Given the description of an element on the screen output the (x, y) to click on. 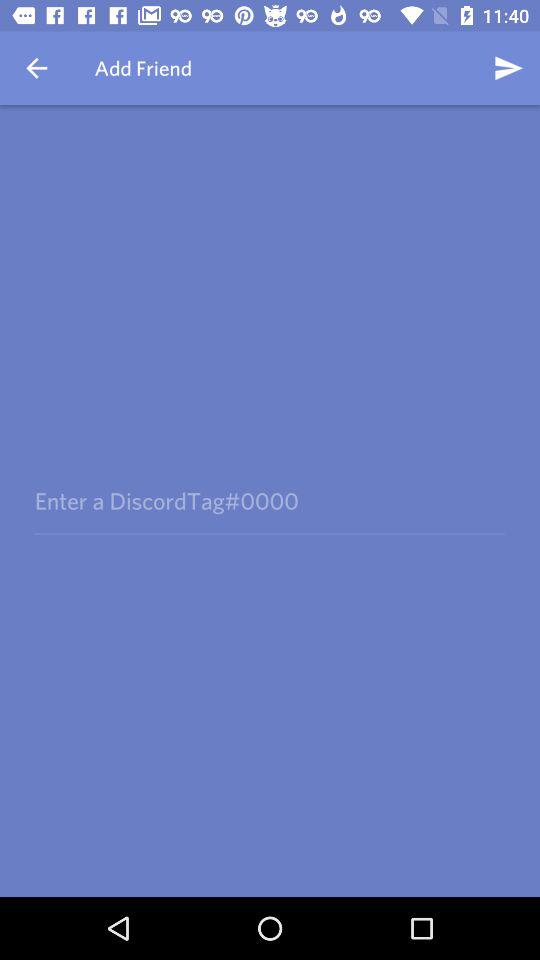
open the item to the left of the add friend icon (36, 68)
